Given the description of an element on the screen output the (x, y) to click on. 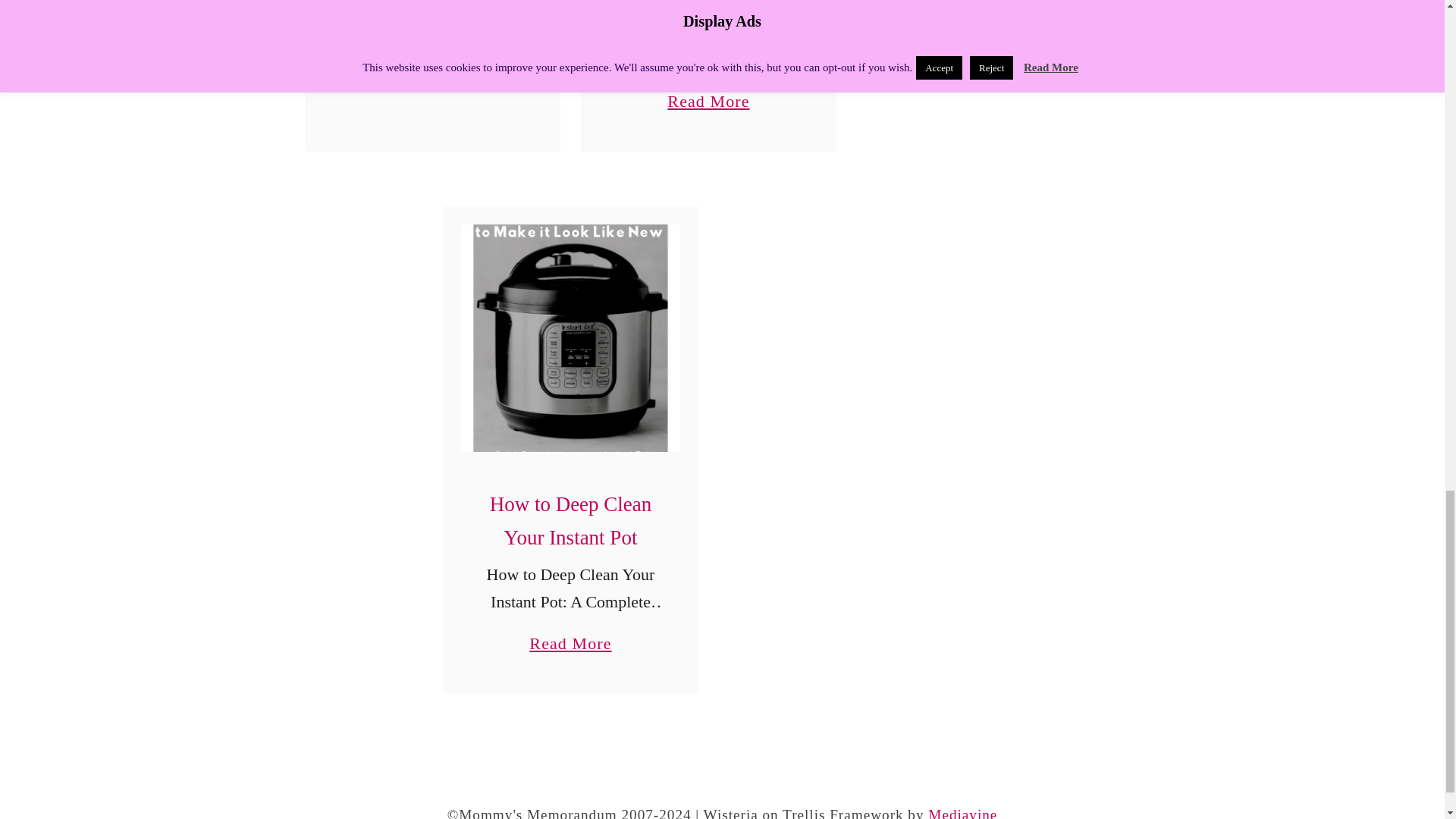
How to Deep Clean Your Instant Pot (570, 520)
How to Deep Clean Your Instant Pot (570, 338)
Instant Pot Black Beans: Abuela Approved (432, 60)
